Given the description of an element on the screen output the (x, y) to click on. 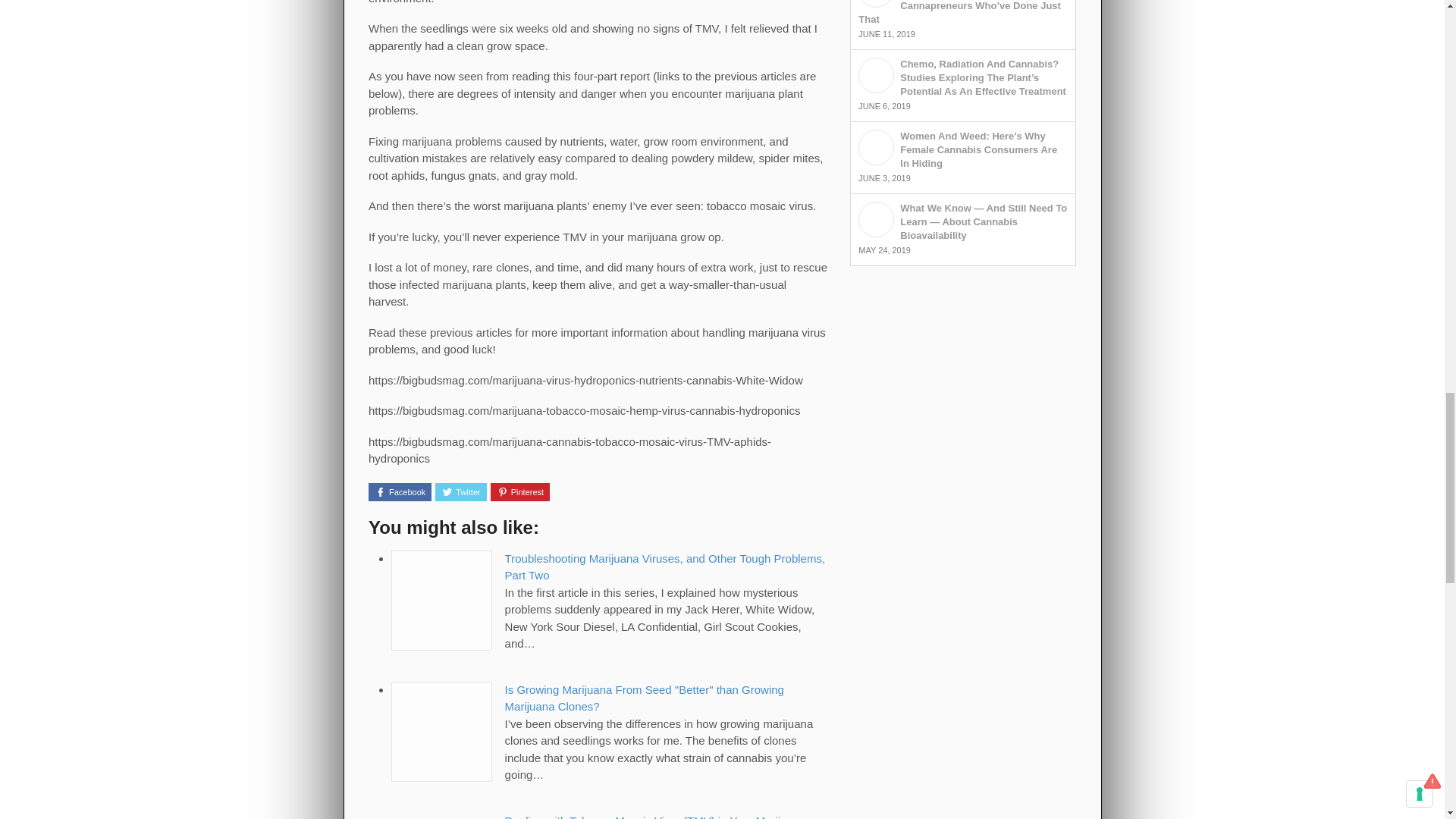
Facebook (399, 492)
Pinterest (520, 492)
Twitter (460, 492)
